Given the description of an element on the screen output the (x, y) to click on. 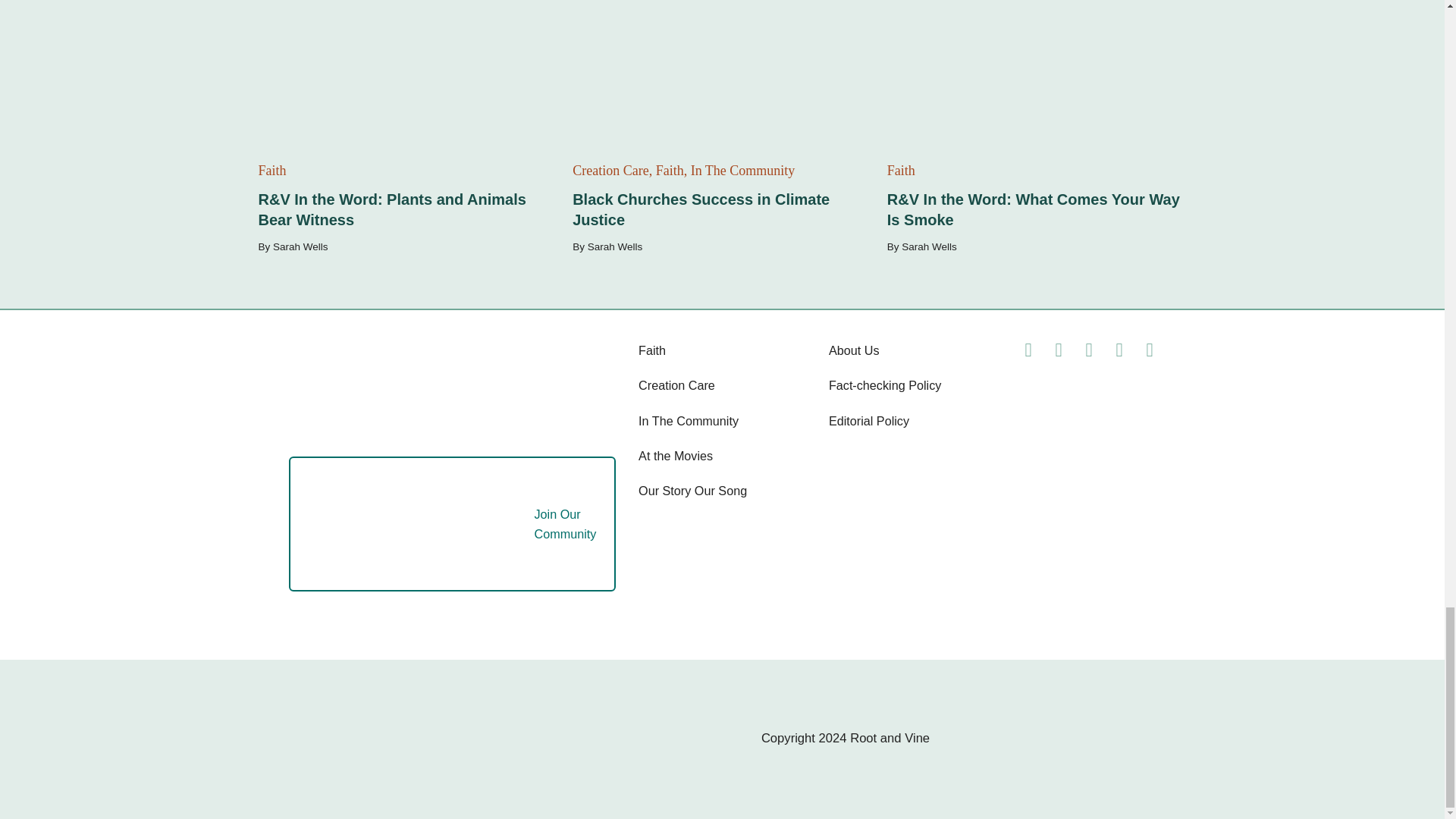
Our Story Our Song (692, 490)
YouTube (1149, 349)
In The Community (688, 420)
Pinterest (1119, 349)
Join Our Community (436, 523)
Faith (652, 350)
Creation Care (676, 385)
Fact-checking Policy (884, 385)
Instagram (1089, 349)
At the Movies (676, 455)
Editorial Policy (868, 420)
YouTube (1149, 349)
Instagram (1089, 349)
Twitter (1058, 349)
